Given the description of an element on the screen output the (x, y) to click on. 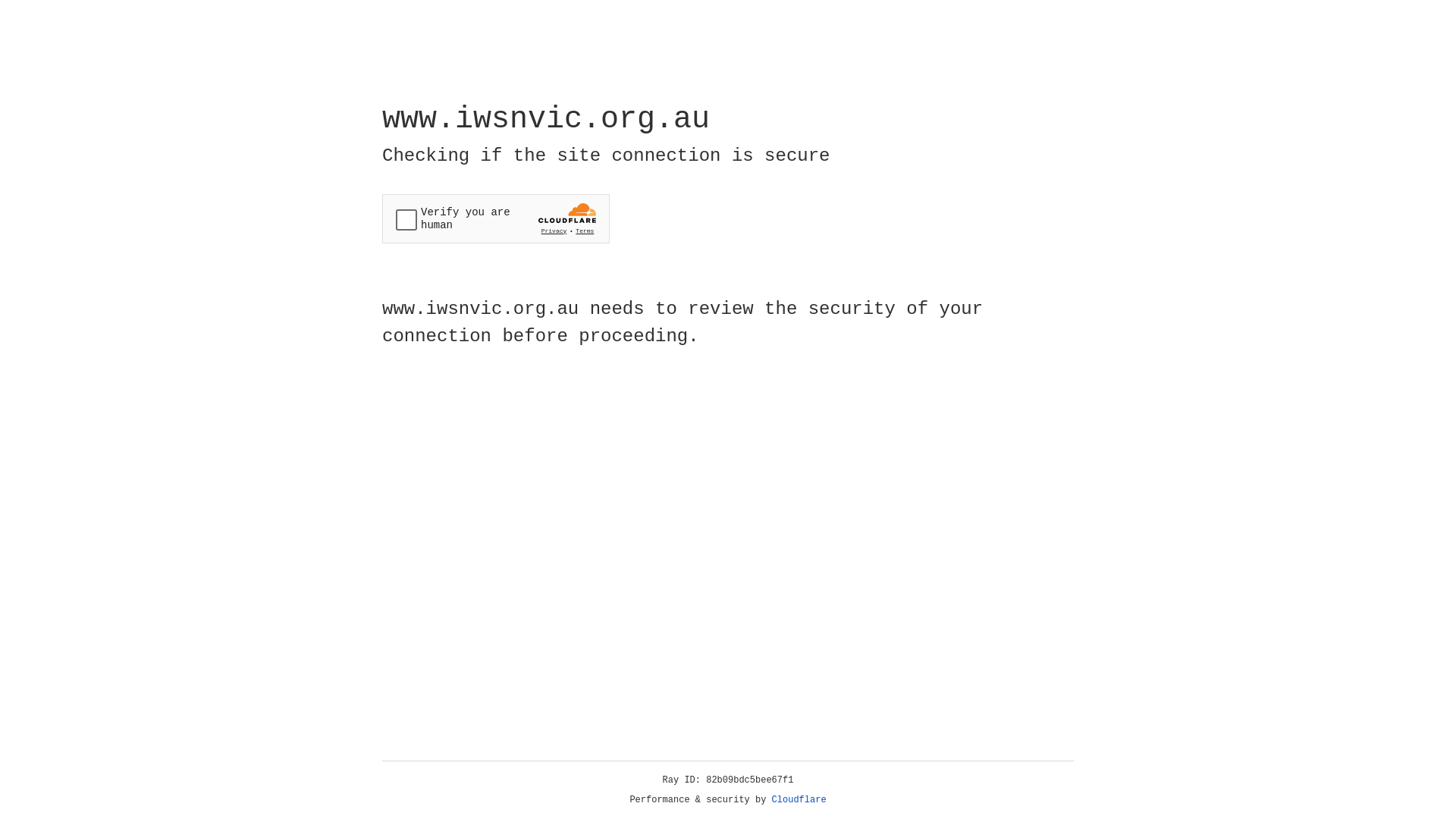
Widget containing a Cloudflare security challenge Element type: hover (495, 218)
Cloudflare Element type: text (798, 799)
